Given the description of an element on the screen output the (x, y) to click on. 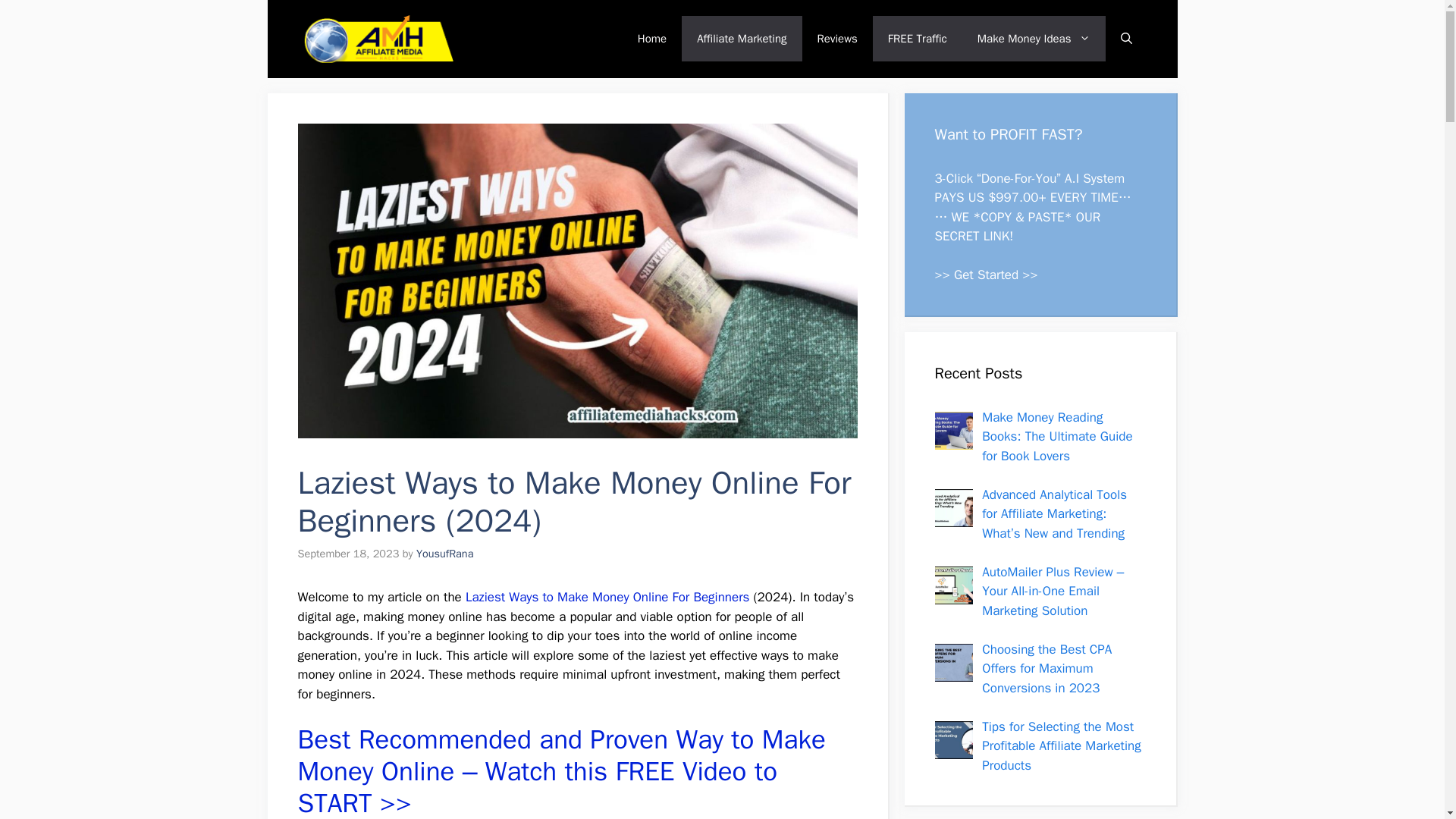
FREE Traffic (917, 38)
YousufRana (445, 553)
Make Money Ideas (1033, 38)
Home (652, 38)
Laziest Ways to Make Money Online For Beginners (607, 596)
Reviews (837, 38)
Affiliate Marketing (741, 38)
View all posts by YousufRana (445, 553)
